Given the description of an element on the screen output the (x, y) to click on. 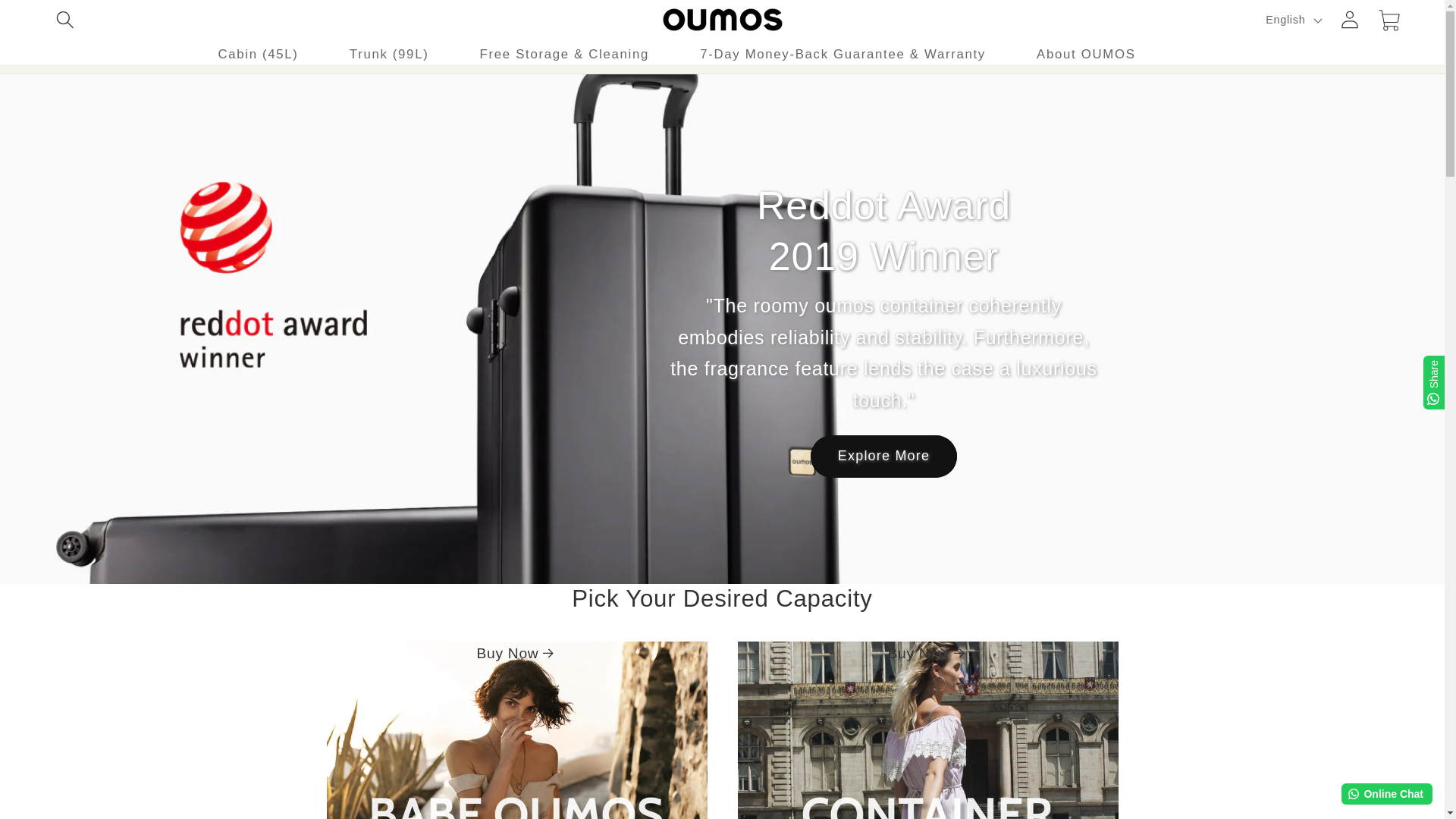
About OUMOS (1086, 54)
English (1292, 19)
Explore More (883, 455)
Buy Now  (927, 730)
Buy Now  (516, 730)
Cart (1390, 20)
Skip to content (55, 20)
Log in (1350, 20)
